Given the description of an element on the screen output the (x, y) to click on. 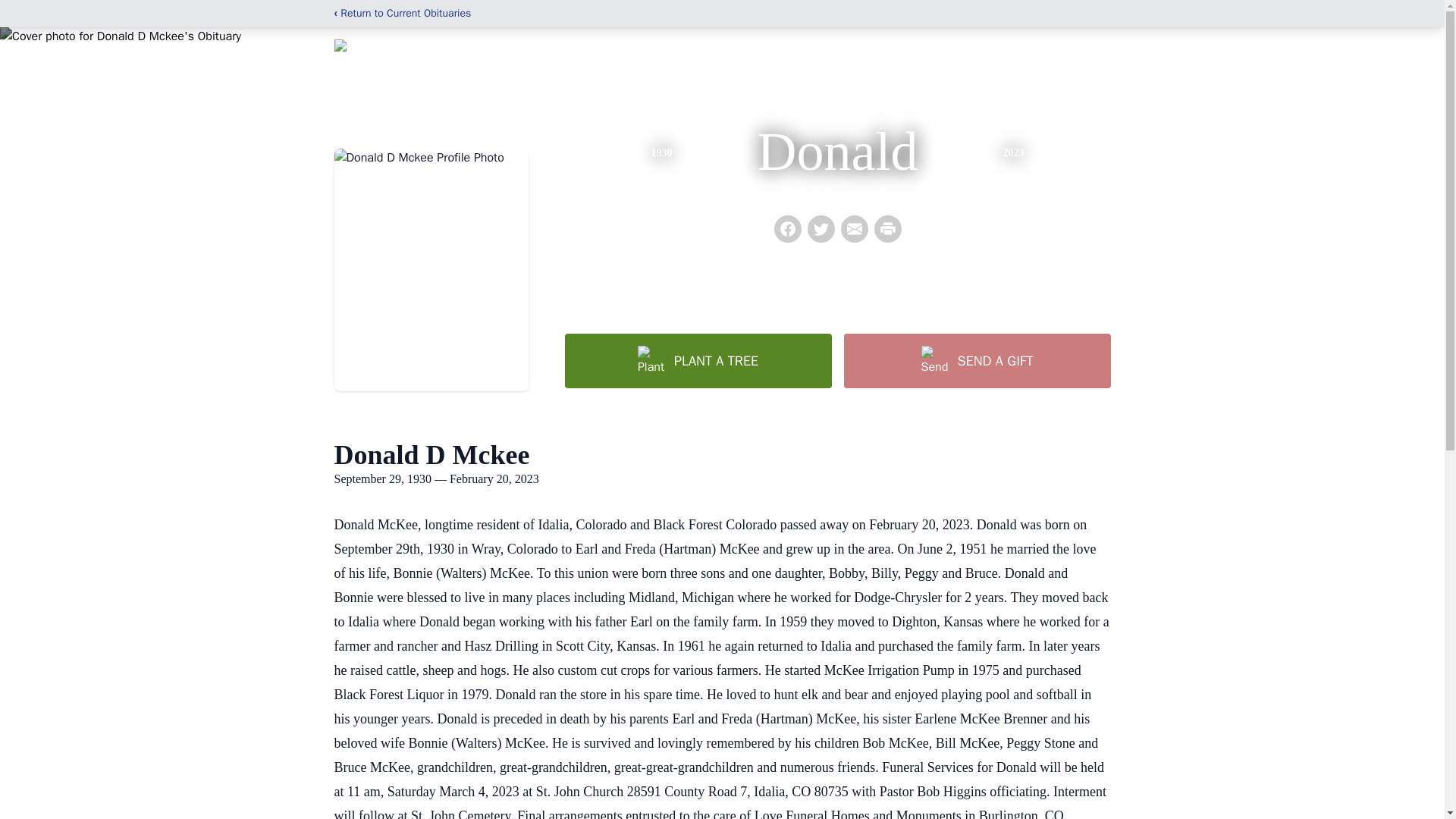
SEND A GIFT (976, 360)
PLANT A TREE (697, 360)
